Given the description of an element on the screen output the (x, y) to click on. 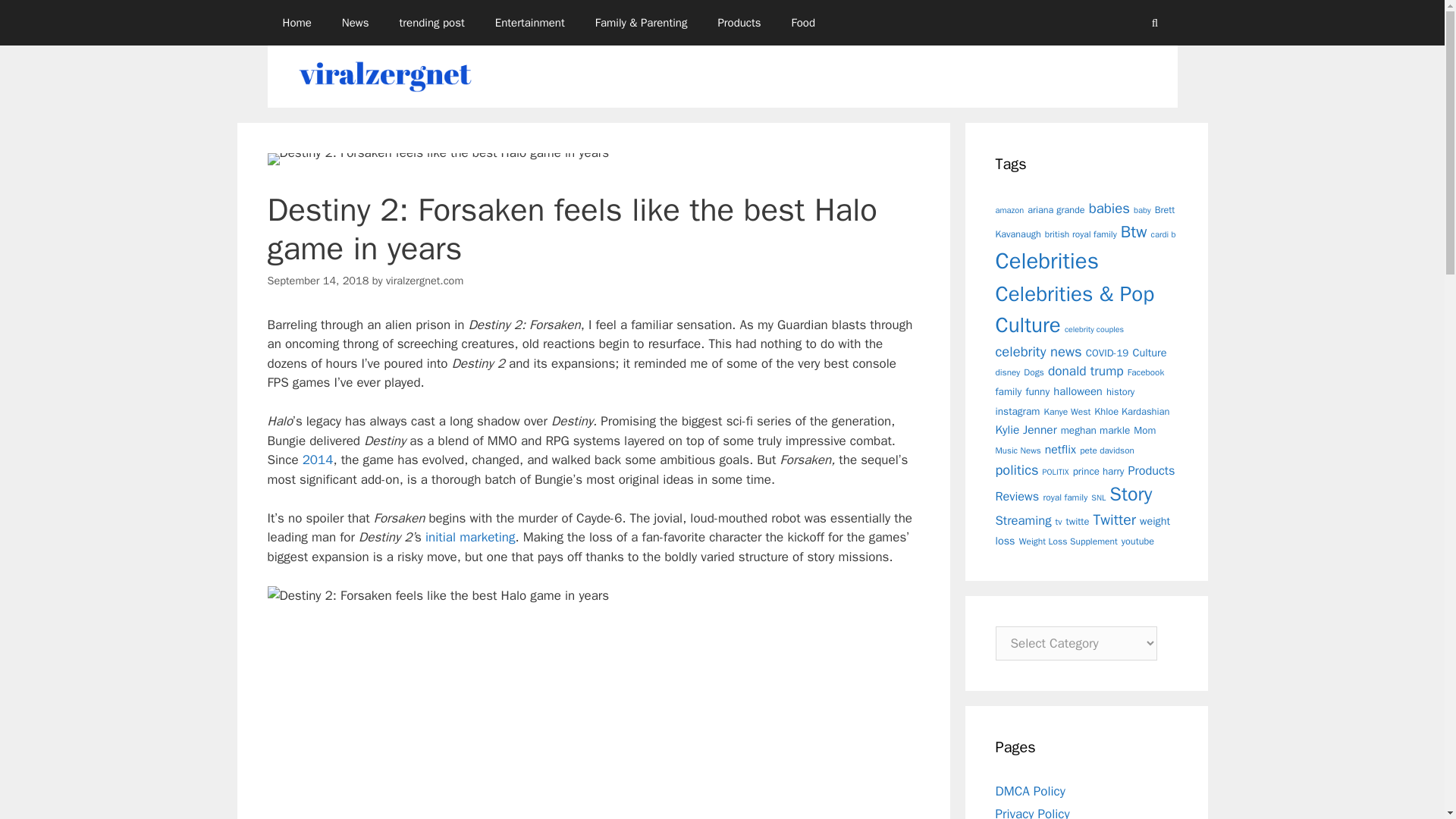
ariana grande (1055, 209)
News (355, 22)
Food (802, 22)
Entertainment (529, 22)
viralzergnet.com (424, 280)
2014 (317, 459)
Products (738, 22)
trending post (432, 22)
Home (296, 22)
amazon (1008, 209)
